Given the description of an element on the screen output the (x, y) to click on. 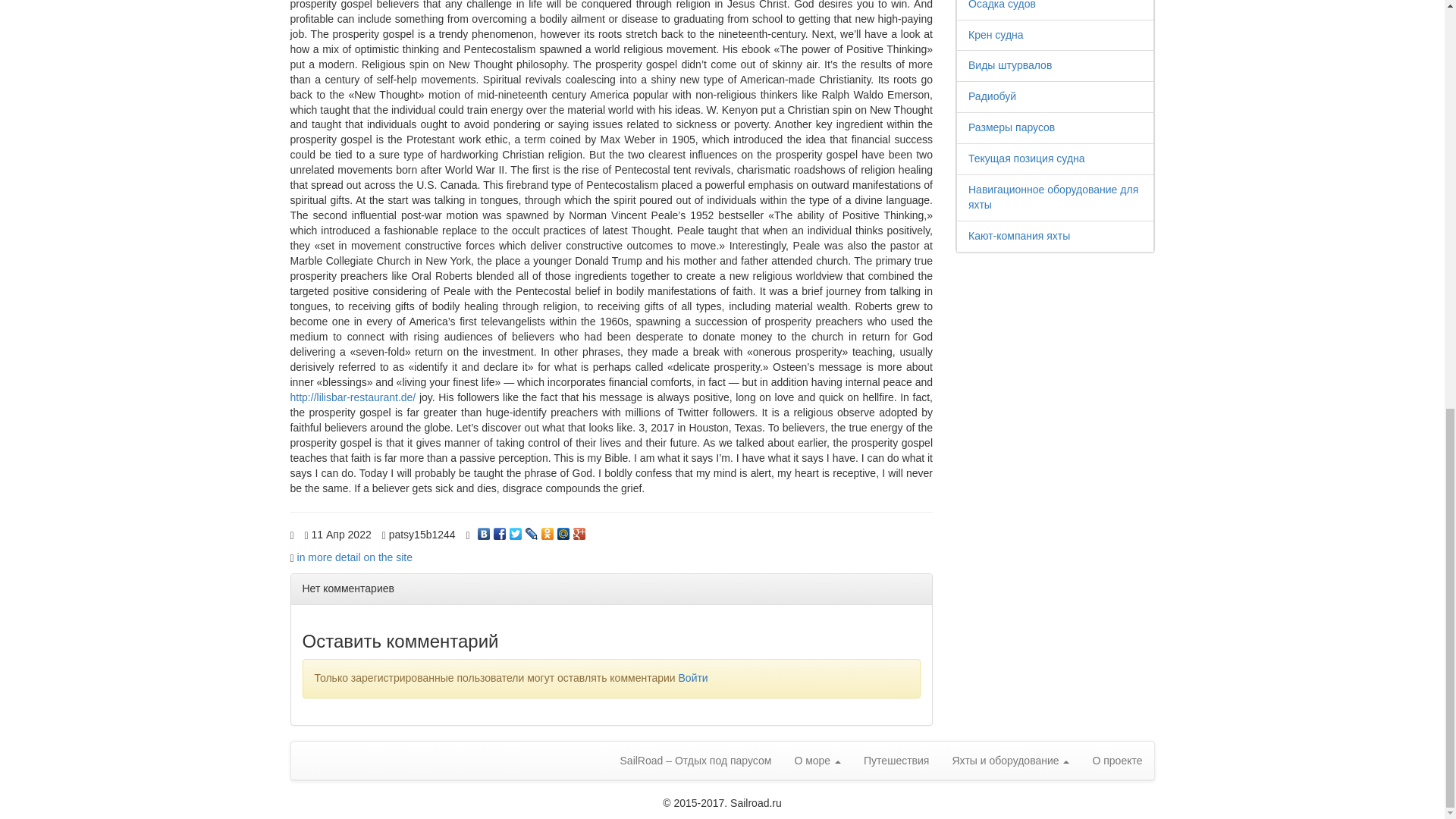
in more detail on the site (355, 557)
Google Plus (580, 530)
Twitter (516, 530)
Facebook (500, 530)
LiveJournal (532, 530)
